Given the description of an element on the screen output the (x, y) to click on. 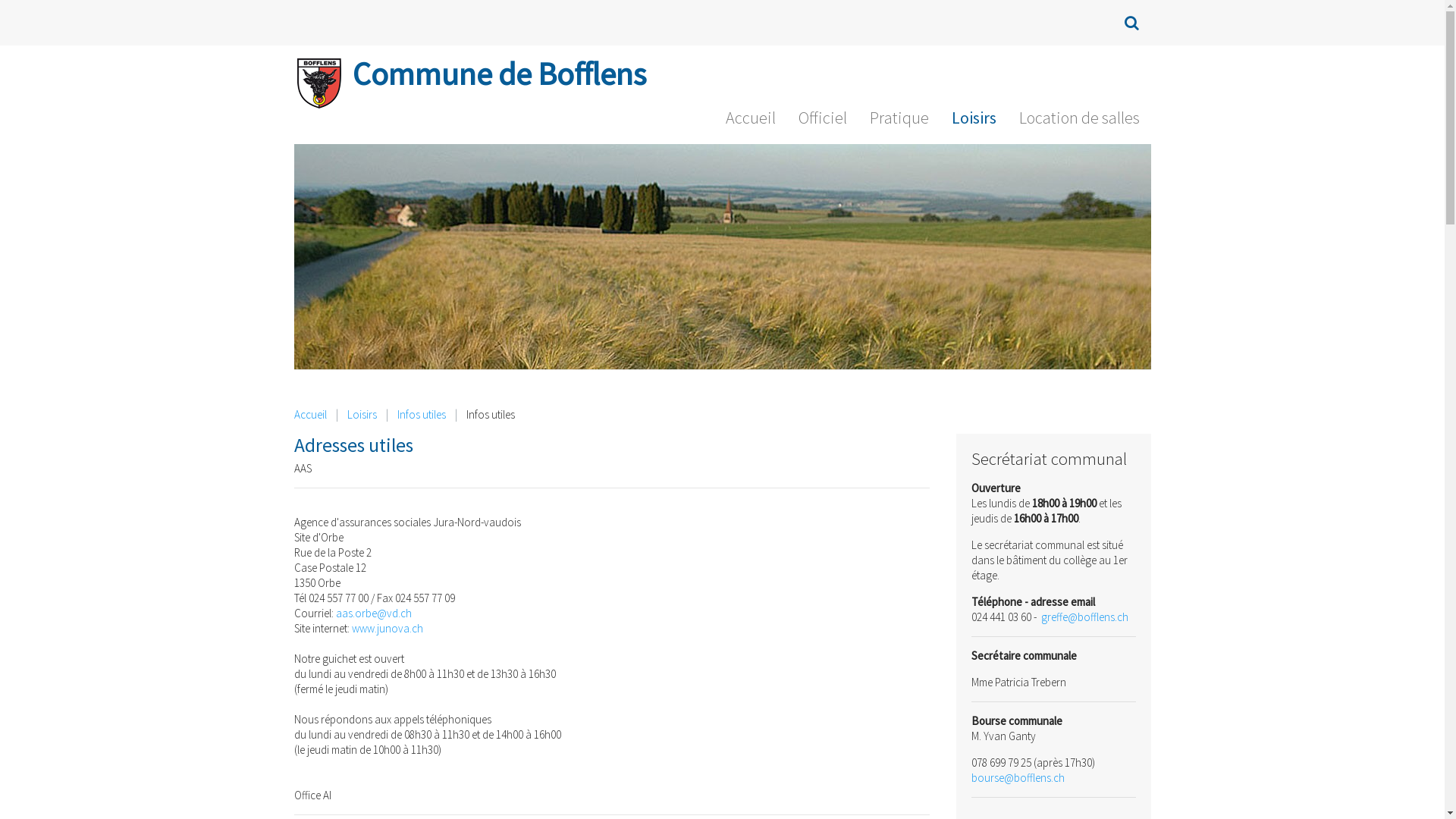
Loisirs Element type: text (361, 414)
Loisirs Element type: text (973, 121)
Location de salles Element type: text (1078, 121)
Accueil Element type: text (750, 121)
greffe@bofflens.ch Element type: text (1084, 616)
Accueil Element type: text (310, 414)
bourse@bofflens.ch Element type: text (1017, 777)
Officiel Element type: text (822, 121)
Pratique Element type: text (899, 121)
www.junova.ch Element type: text (387, 628)
aas.orbe@vd.ch Element type: text (373, 612)
Infos utiles Element type: text (421, 414)
